Given the description of an element on the screen output the (x, y) to click on. 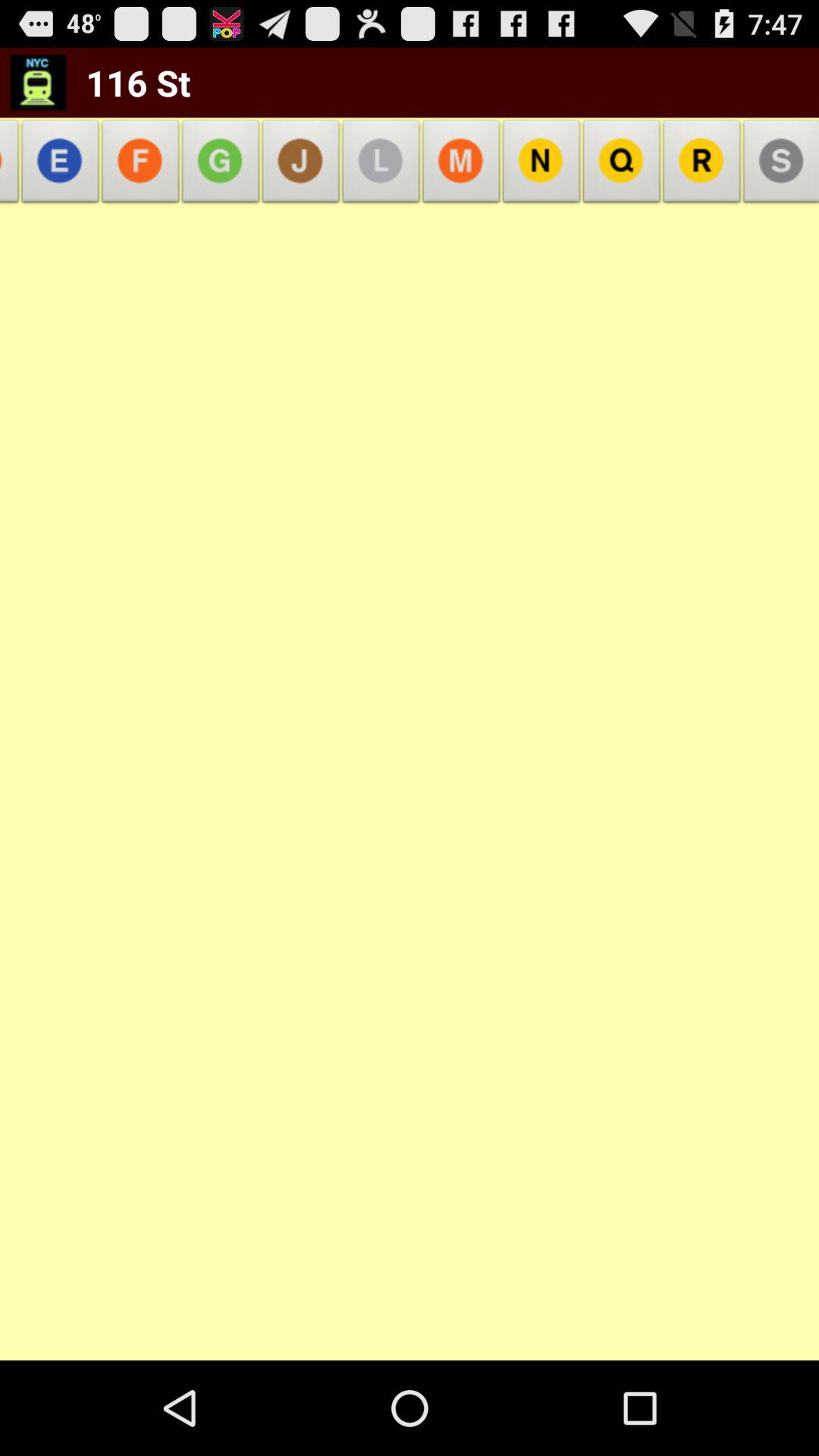
select item below 116 st app (140, 165)
